Given the description of an element on the screen output the (x, y) to click on. 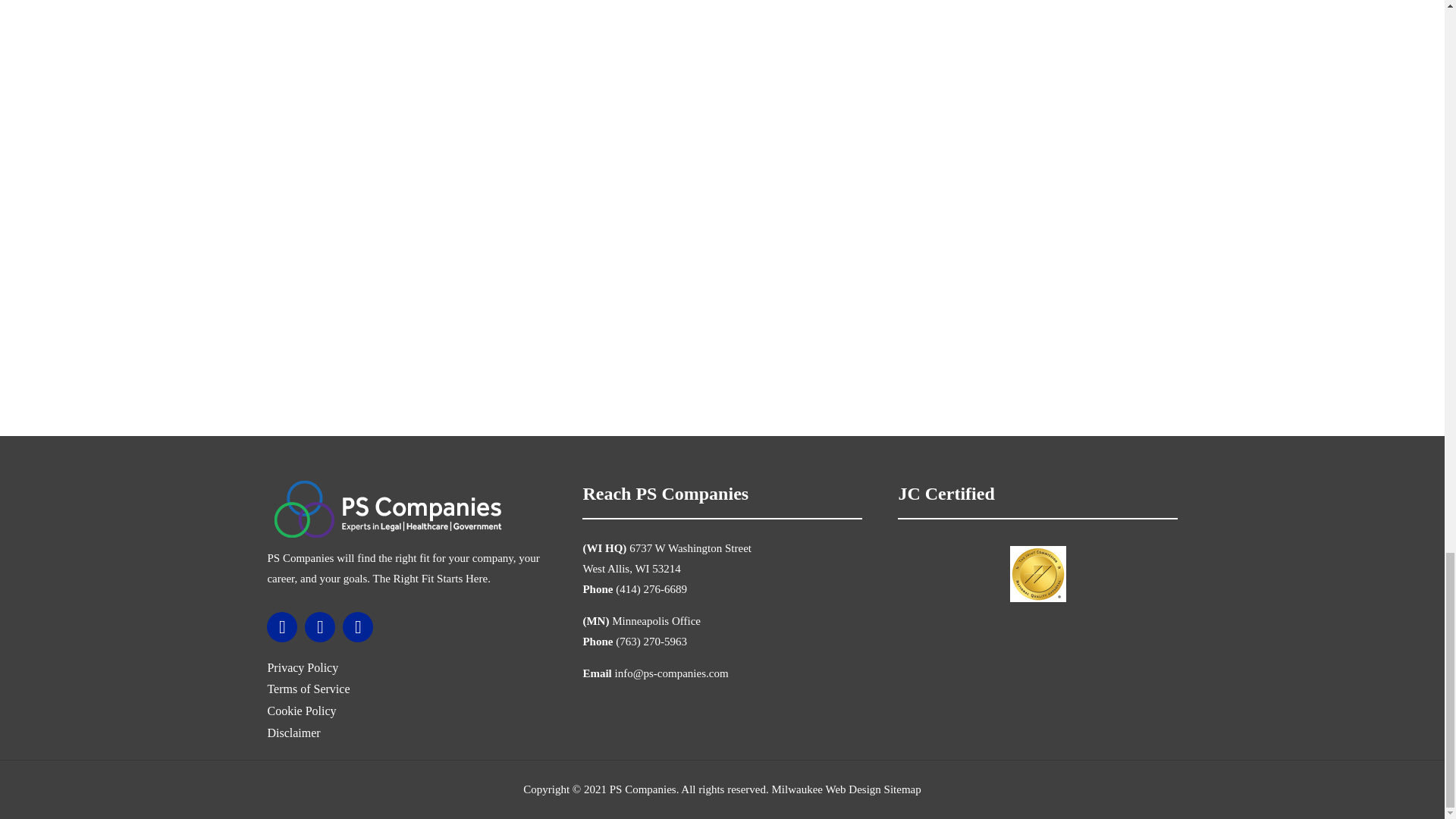
PS Companies (387, 510)
